Given the description of an element on the screen output the (x, y) to click on. 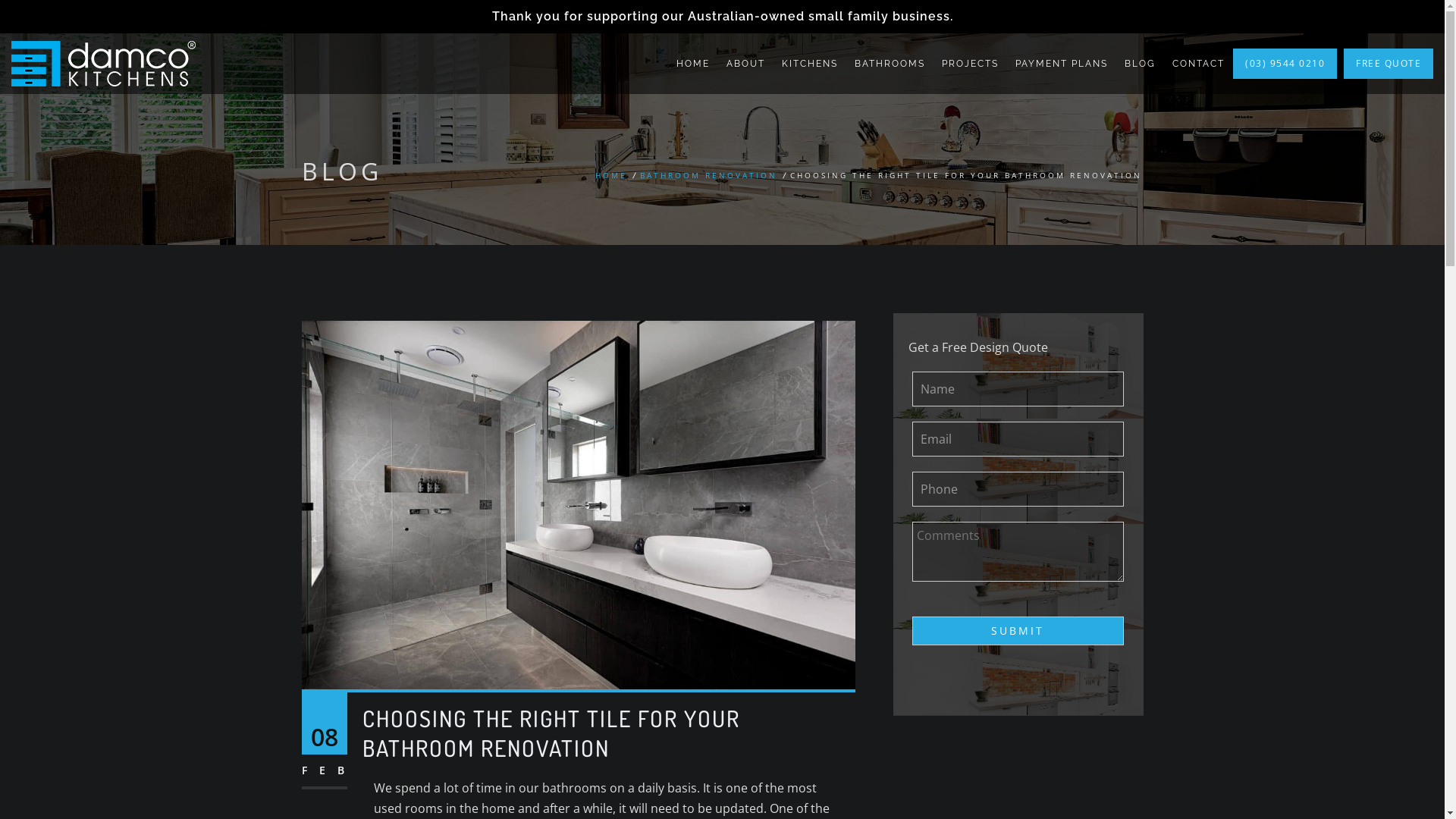
Damco Kitchens Element type: hover (103, 63)
BATHROOMS Element type: text (889, 63)
FREE QUOTE Element type: text (1388, 63)
PROJECTS Element type: text (969, 63)
(03) 9544 0210 Element type: text (1284, 63)
PAYMENT PLANS Element type: text (1061, 63)
HOME
(CURRENT) Element type: text (692, 63)
BLOG Element type: text (1139, 63)
HOME Element type: text (610, 174)
BATHROOM RENOVATION Element type: text (708, 174)
ABOUT Element type: text (745, 63)
Submit Element type: text (1017, 630)
CONTACT Element type: text (1198, 63)
KITCHENS Element type: text (809, 63)
